Given the description of an element on the screen output the (x, y) to click on. 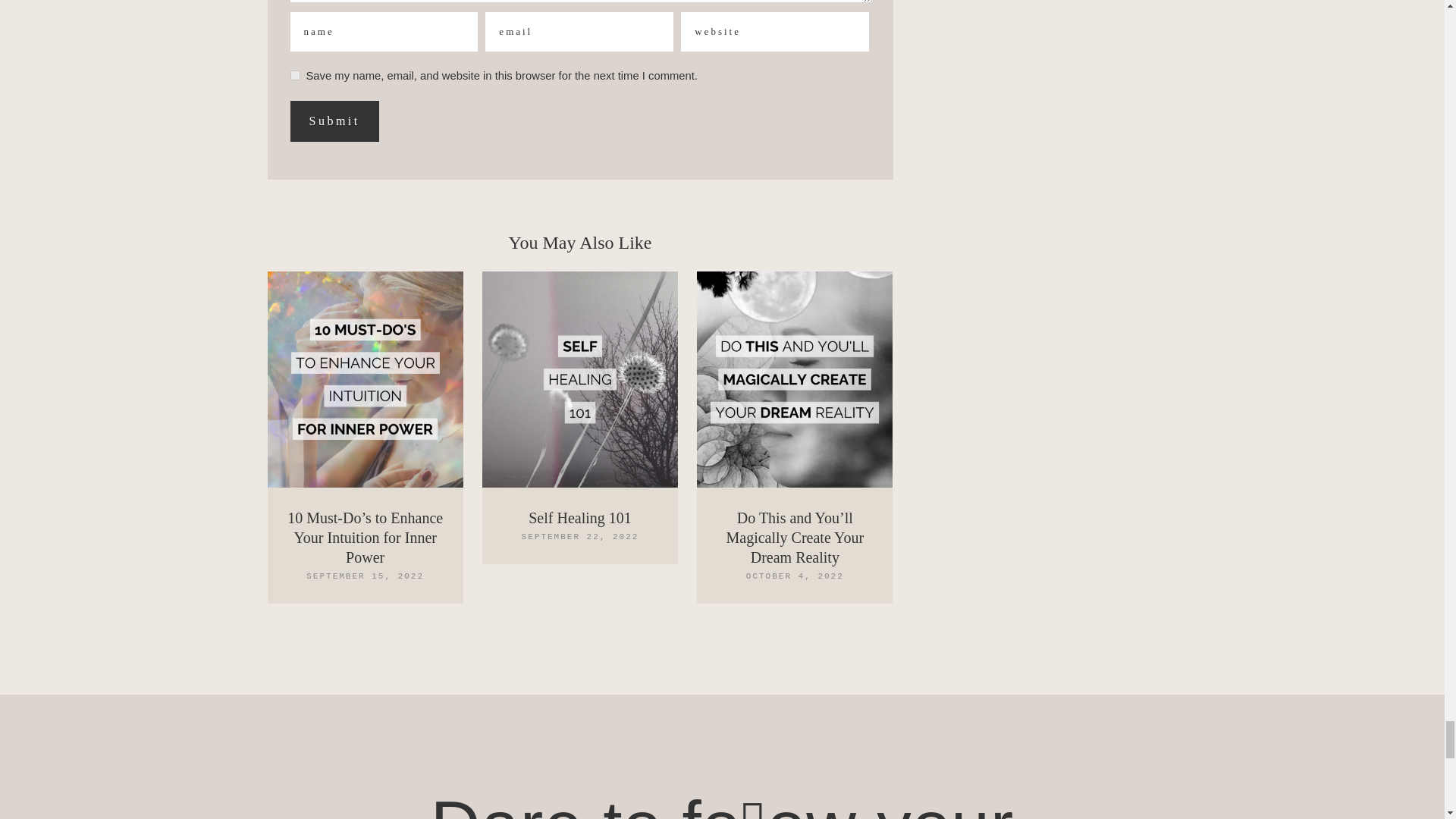
Submit (333, 120)
yes (294, 75)
